Given the description of an element on the screen output the (x, y) to click on. 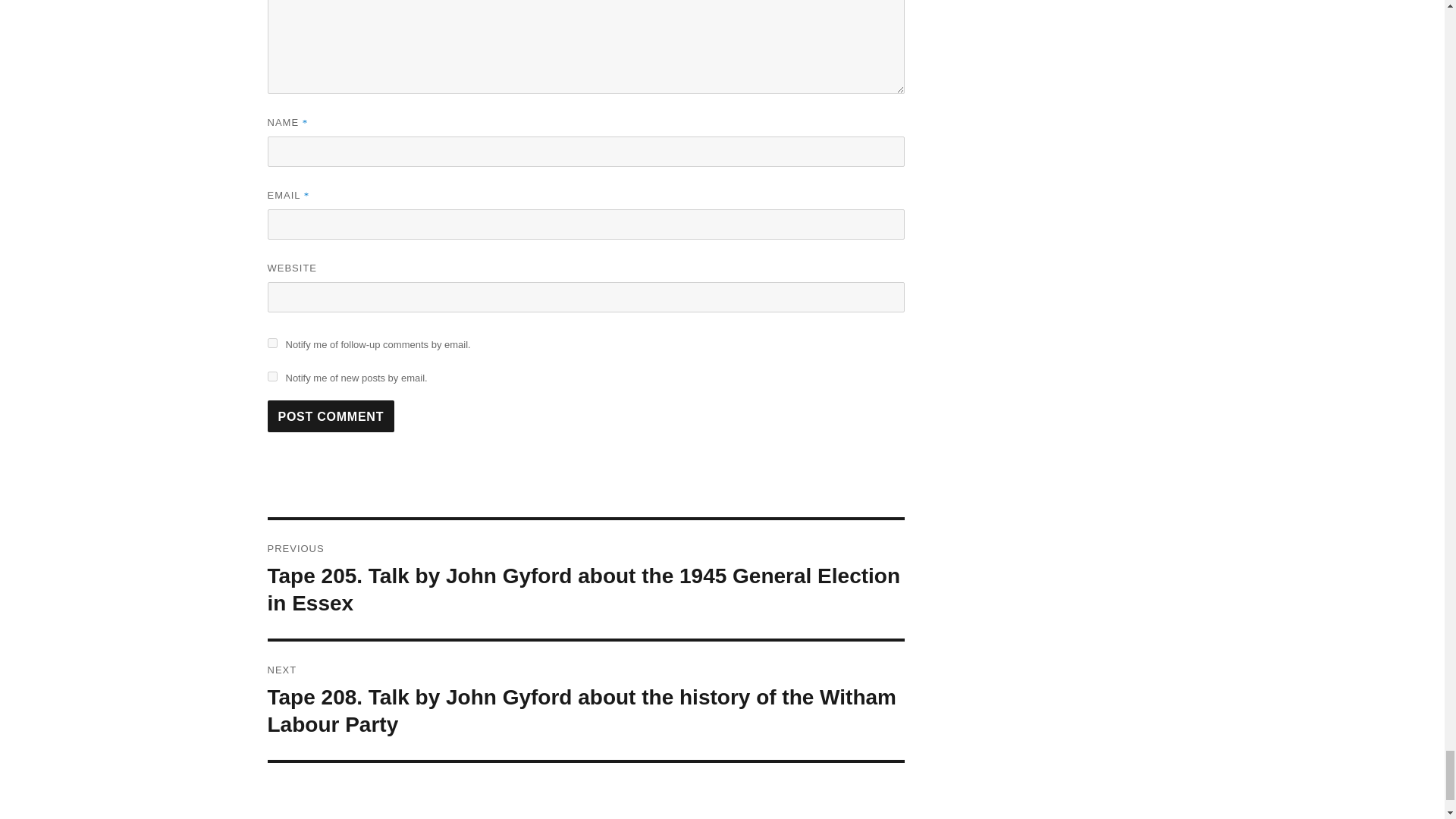
subscribe (271, 376)
Post Comment (330, 416)
subscribe (271, 343)
Post Comment (330, 416)
